Given the description of an element on the screen output the (x, y) to click on. 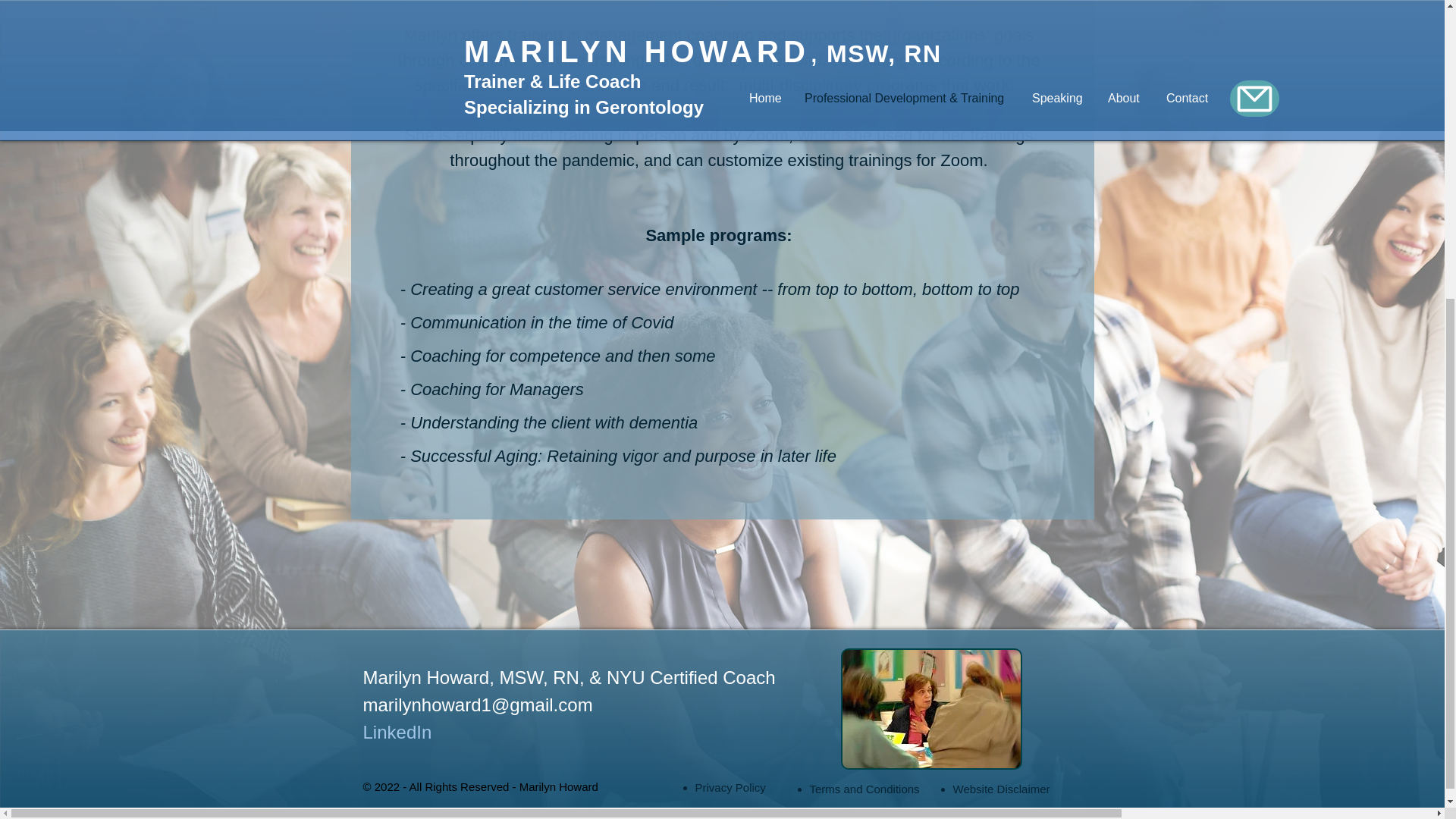
Terms and Conditions (864, 788)
Privacy Policy (729, 787)
Website Disclaimer (1000, 788)
LinkedIn (396, 731)
